Given the description of an element on the screen output the (x, y) to click on. 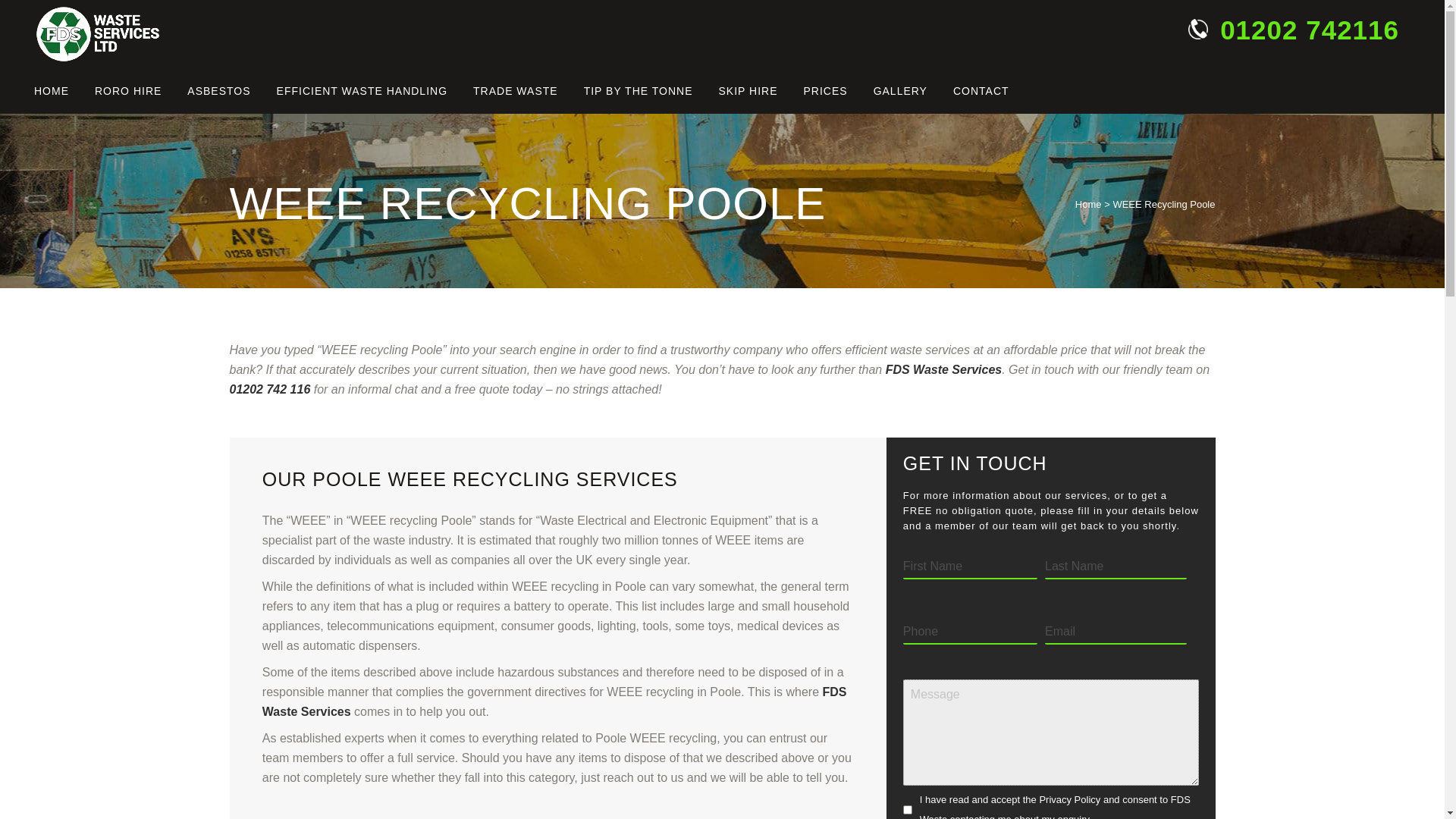
TRADE WASTE (515, 90)
PRICES (825, 90)
01202 742 116 (269, 389)
FDS Waste Services (554, 701)
FDS Waste Services (944, 369)
EFFICIENT WASTE HANDLING (361, 90)
HOME (57, 90)
TIP BY THE TONNE (638, 90)
CONTACT (981, 90)
GALLERY (900, 90)
ASBESTOS (218, 90)
SKIP HIRE (747, 90)
Home (1088, 204)
